Given the description of an element on the screen output the (x, y) to click on. 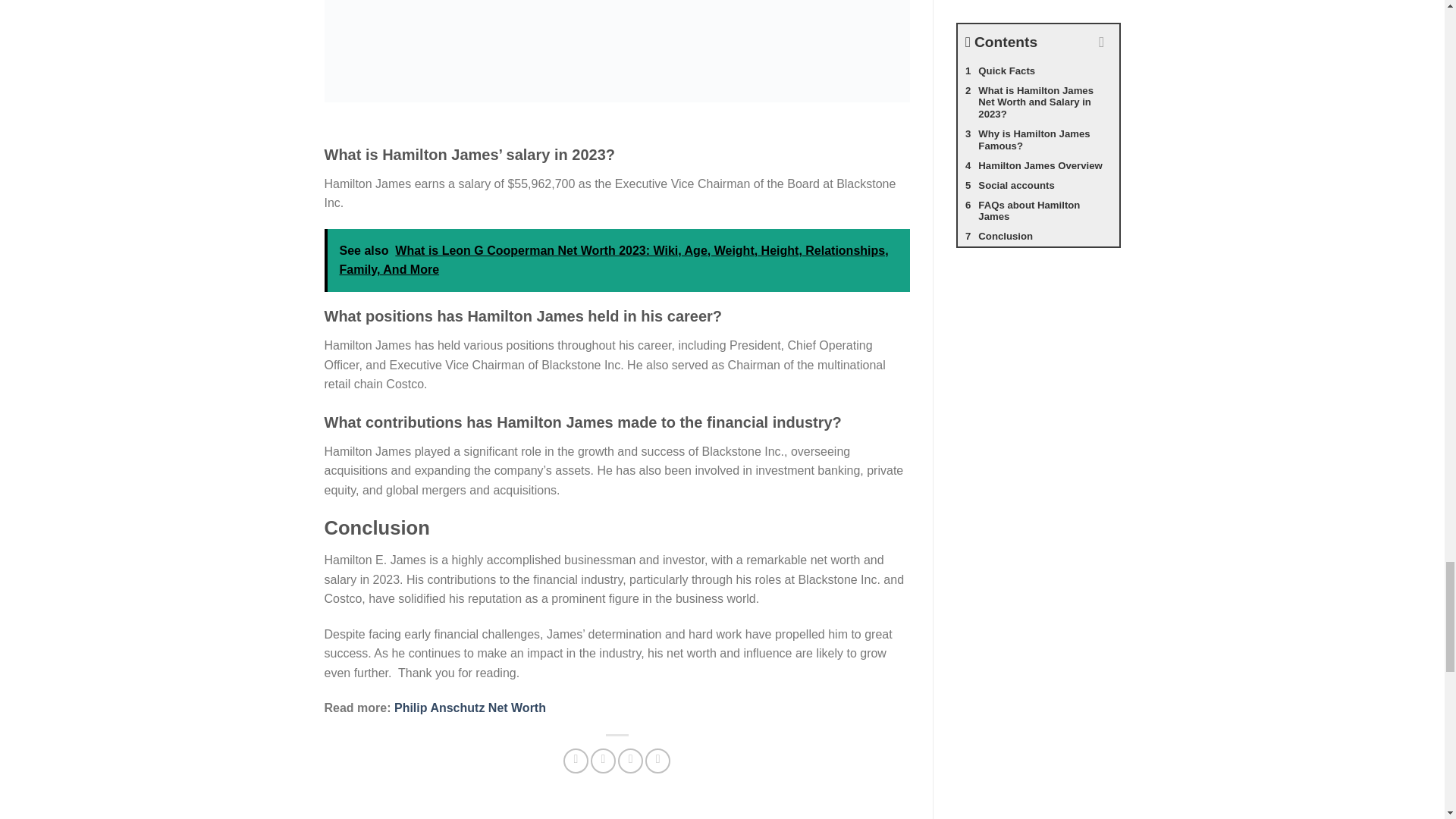
Share on Twitter (603, 760)
Philip Anschutz Net Worth (470, 707)
Share on Tumblr (657, 760)
Pin on Pinterest (630, 760)
Share on Facebook (575, 760)
Philip Anschutz Net Worth (470, 707)
